Given the description of an element on the screen output the (x, y) to click on. 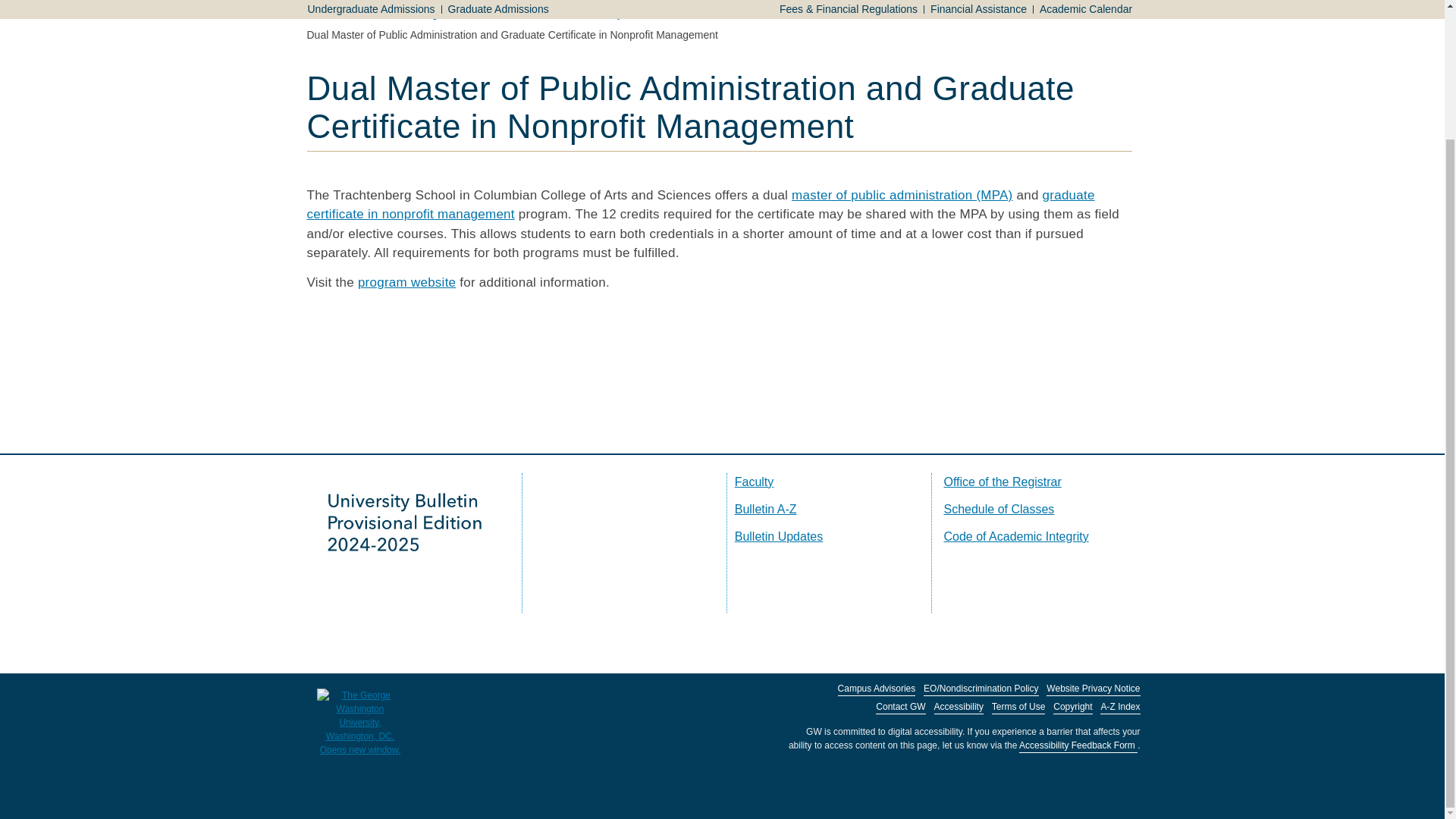
Courses (642, 1)
University Regulations (869, 1)
Home (319, 13)
Programs (573, 1)
Archive (969, 1)
Columbian College of Arts and Sciences (448, 13)
